Given the description of an element on the screen output the (x, y) to click on. 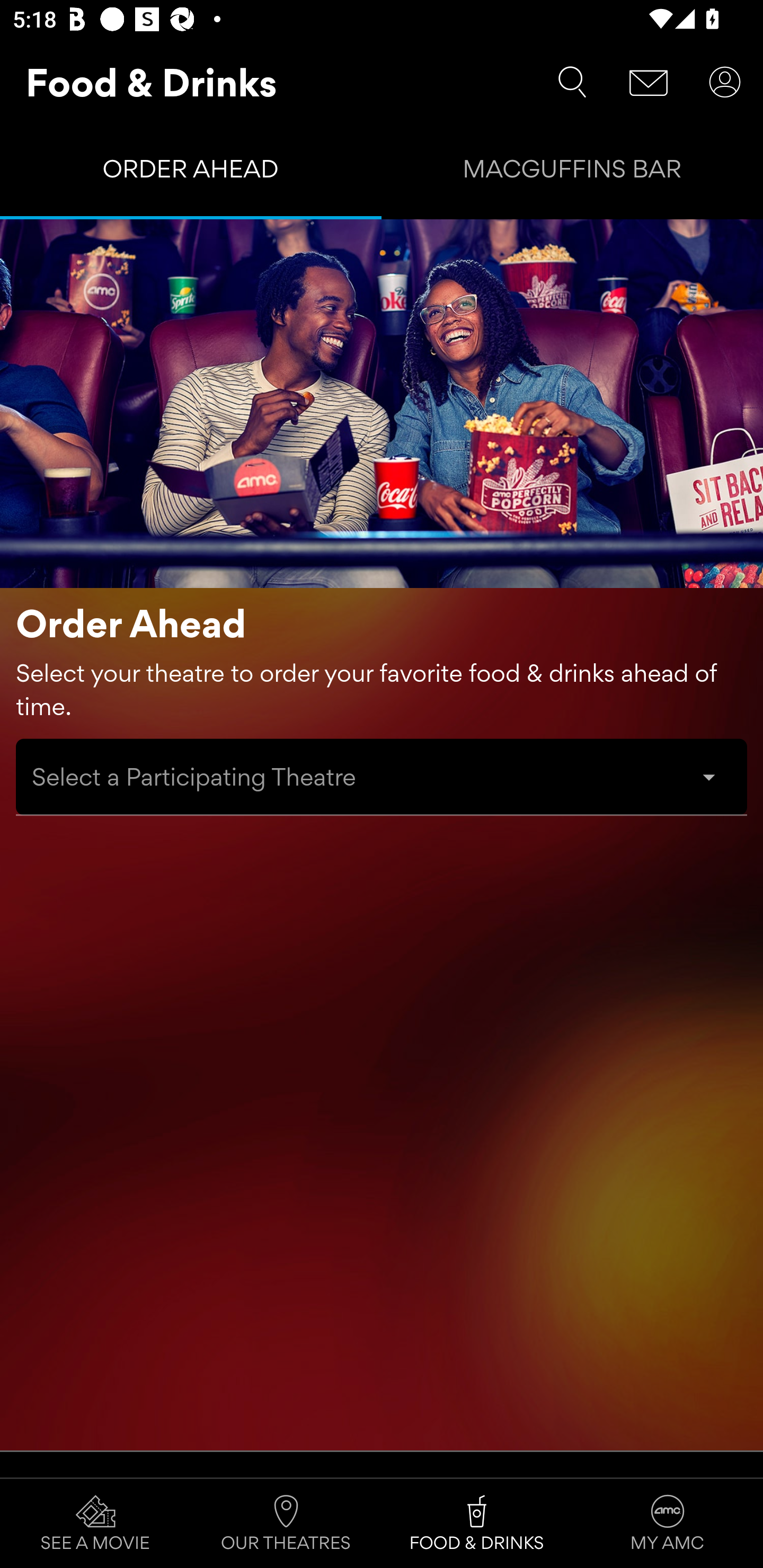
Search (572, 82)
Message Center (648, 82)
User Account (724, 82)
ORDER AHEAD
Tab 1 of 2 (190, 173)
MACGUFFINS BAR
Tab 2 of 2 (572, 173)
SEE A MOVIE
Tab 1 of 4 (95, 1523)
OUR THEATRES
Tab 2 of 4 (285, 1523)
FOOD & DRINKS
Tab 3 of 4 (476, 1523)
MY AMC
Tab 4 of 4 (667, 1523)
